Given the description of an element on the screen output the (x, y) to click on. 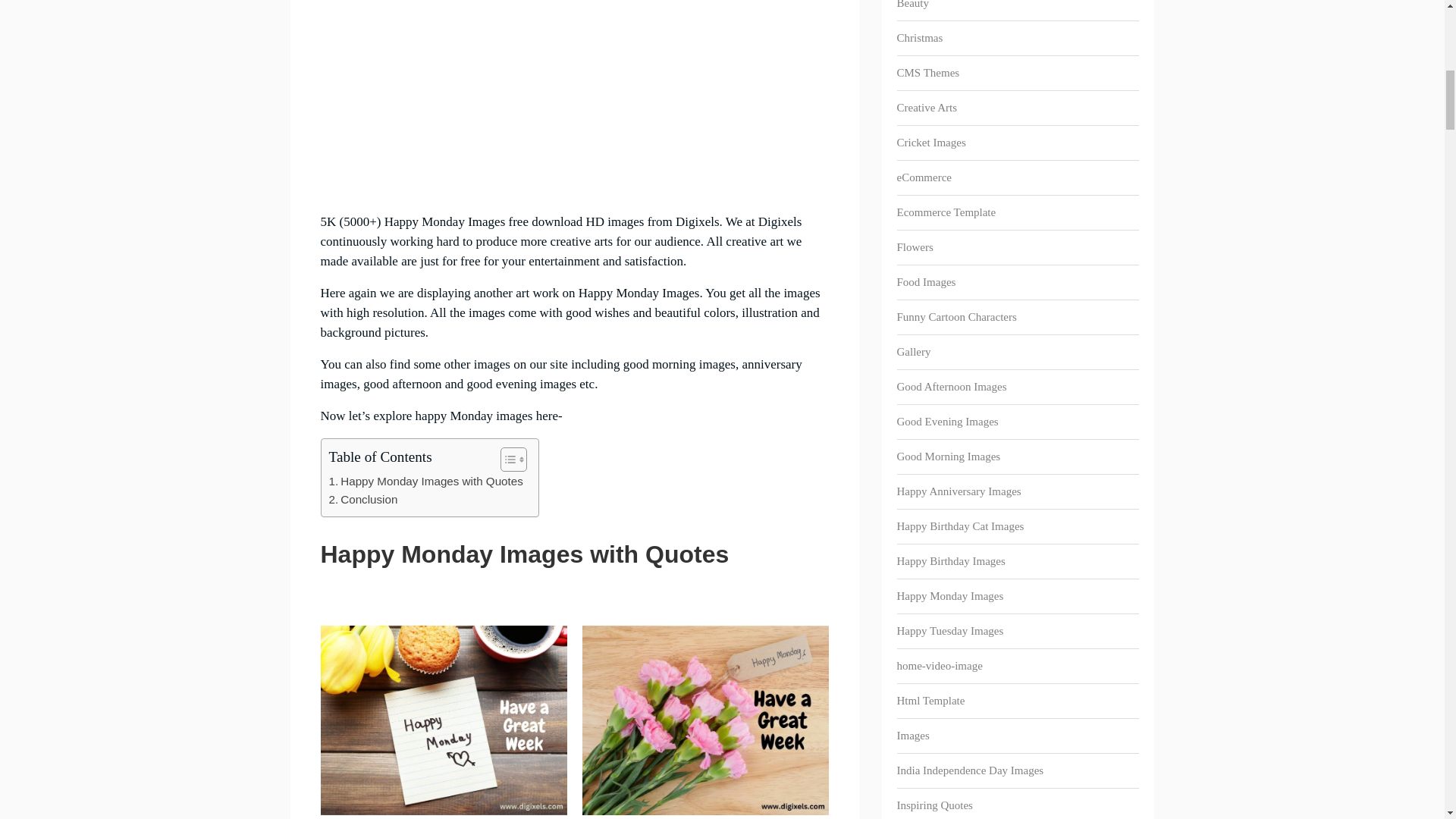
Happy Monday Images with Quotes  (425, 481)
5K Happy Monday Images Free Download With Quotes 3 (705, 719)
5K Happy Monday Images Free Download With Quotes 2 (443, 719)
anniversary images (561, 374)
good evening images (521, 383)
Conclusion  (363, 499)
good morning images (679, 364)
good afternoon (401, 383)
Advertisement (574, 99)
